Given the description of an element on the screen output the (x, y) to click on. 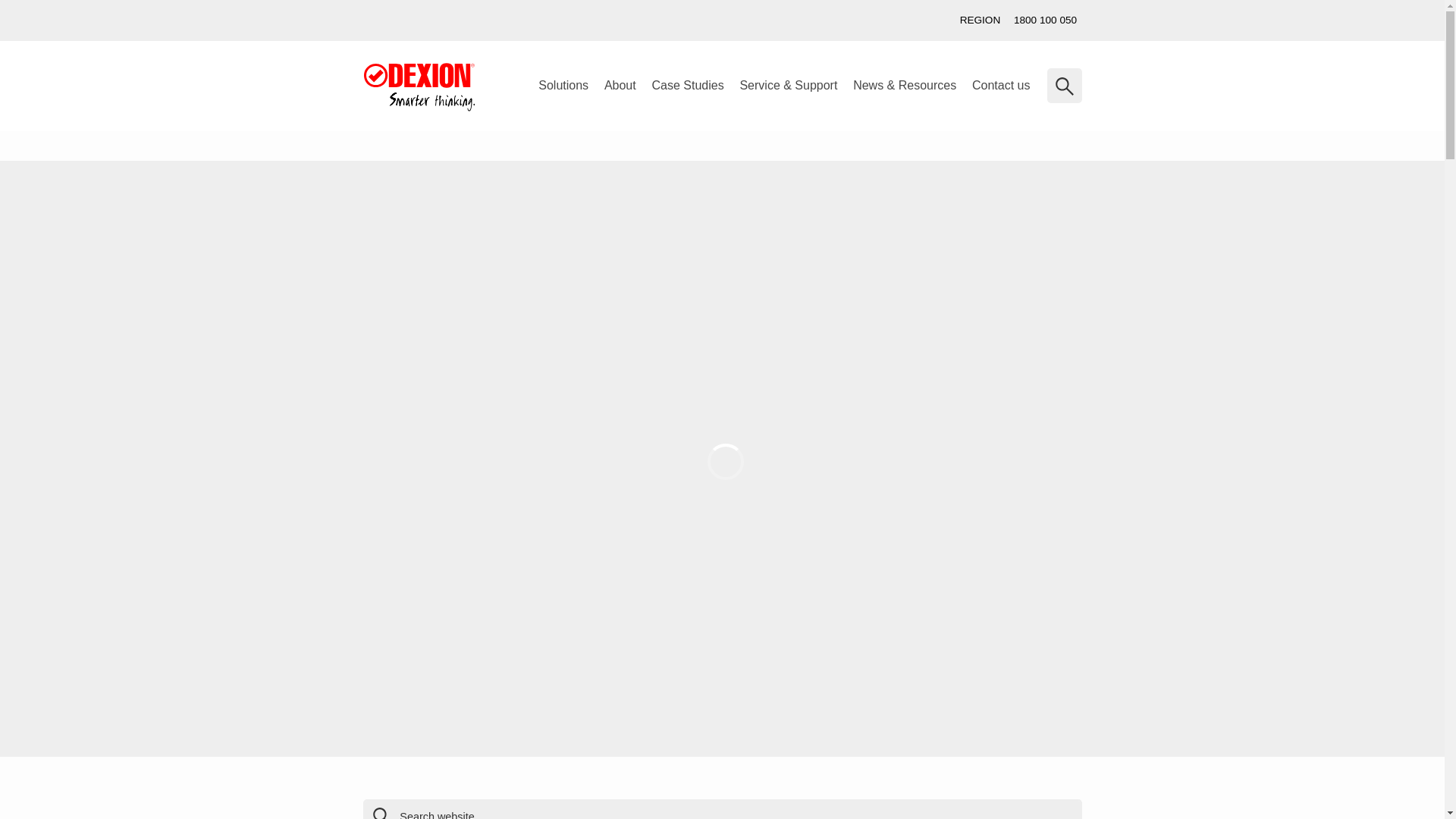
Service & Support Element type: text (788, 85)
1800 100 050 Element type: text (1045, 20)
Dexion - Global Storage solutions Element type: hover (418, 87)
Contact us Element type: text (62, 288)
News & Resources Element type: text (904, 85)
REGION Element type: text (980, 20)
About Element type: text (619, 85)
Solutions Element type: text (563, 85)
Contact us Element type: text (1001, 85)
Case Studies Element type: text (687, 85)
